Given the description of an element on the screen output the (x, y) to click on. 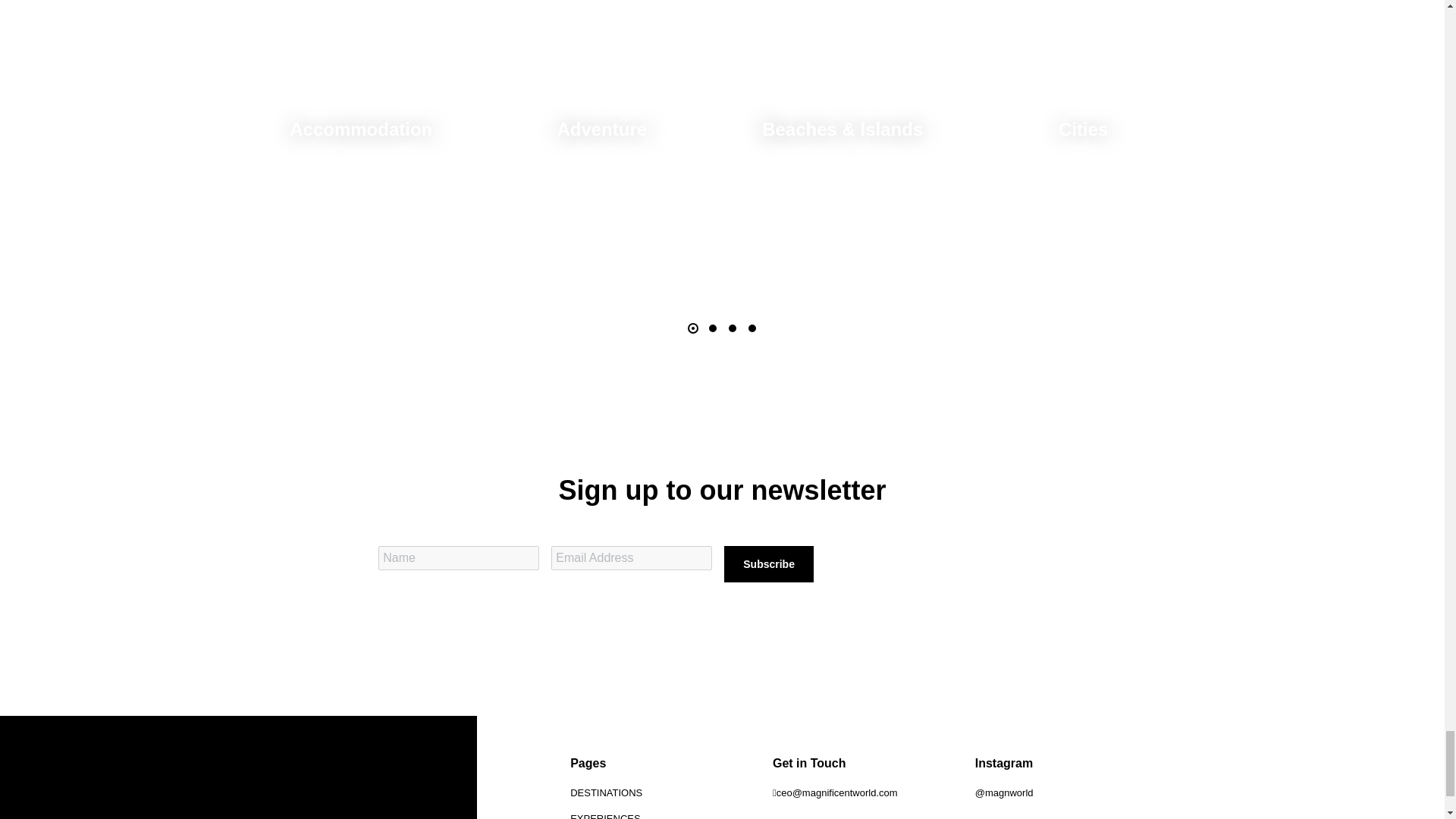
Subscribe (768, 564)
